Given the description of an element on the screen output the (x, y) to click on. 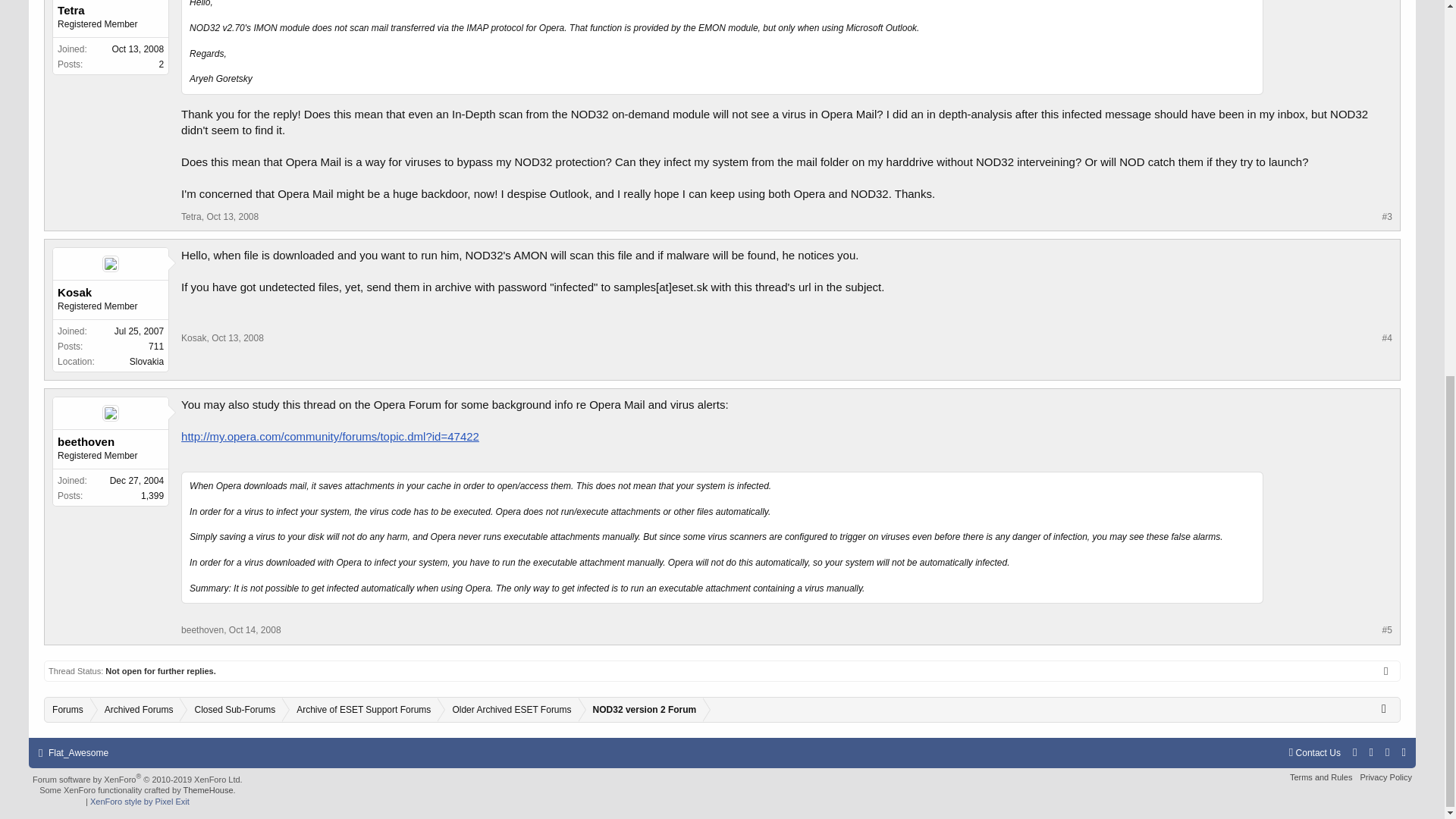
Tetra (110, 10)
Permalink (237, 337)
Slovakia (146, 361)
Oct 13, 2008 (232, 216)
Oct 13, 2008 (237, 337)
beethoven (110, 441)
Permalink (232, 216)
711 (155, 346)
Permalink (254, 629)
Kosak (110, 292)
1,399 (152, 495)
Kosak (193, 337)
Tetra (191, 216)
